Given the description of an element on the screen output the (x, y) to click on. 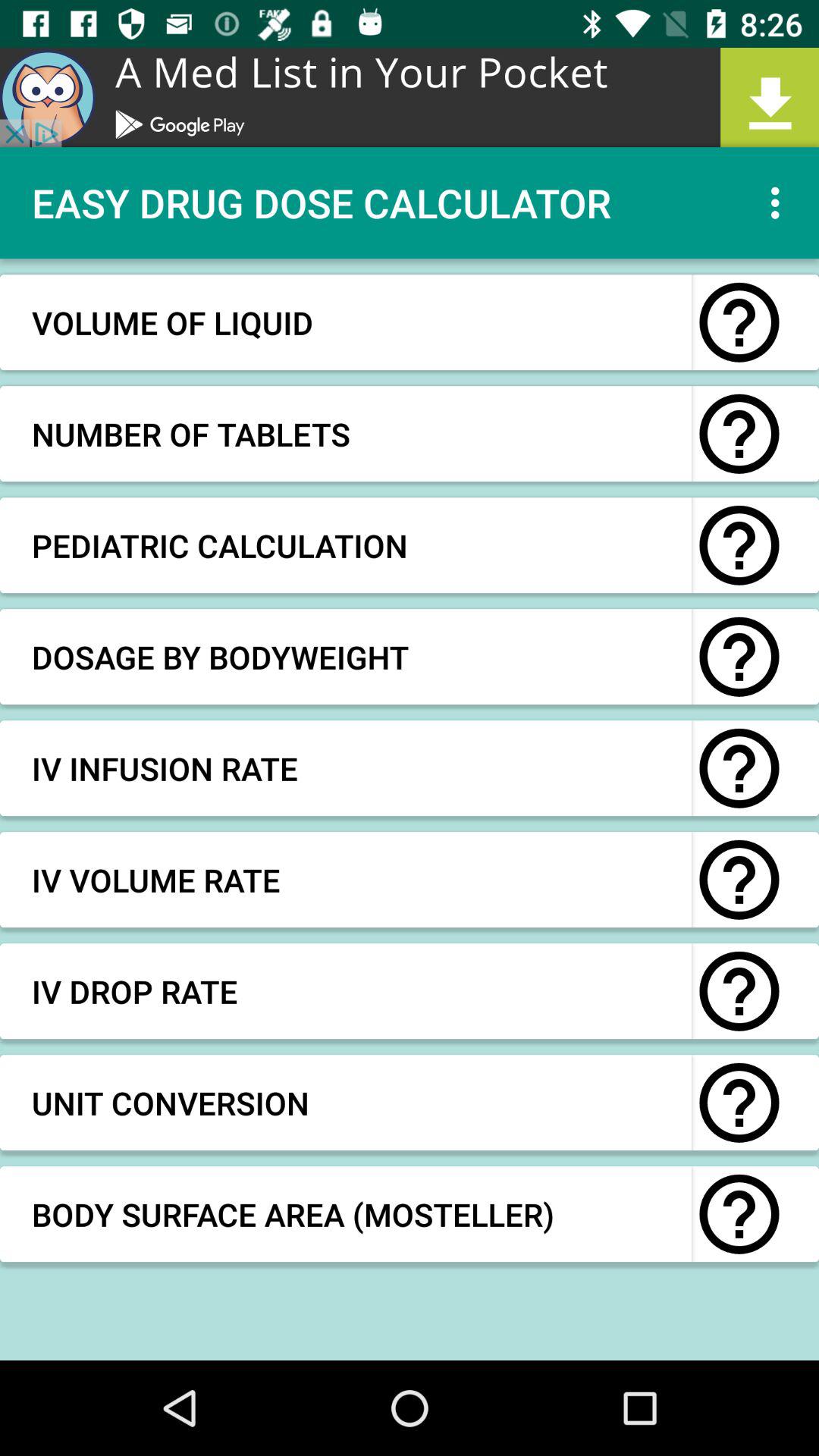
question of the file (739, 1102)
